Given the description of an element on the screen output the (x, y) to click on. 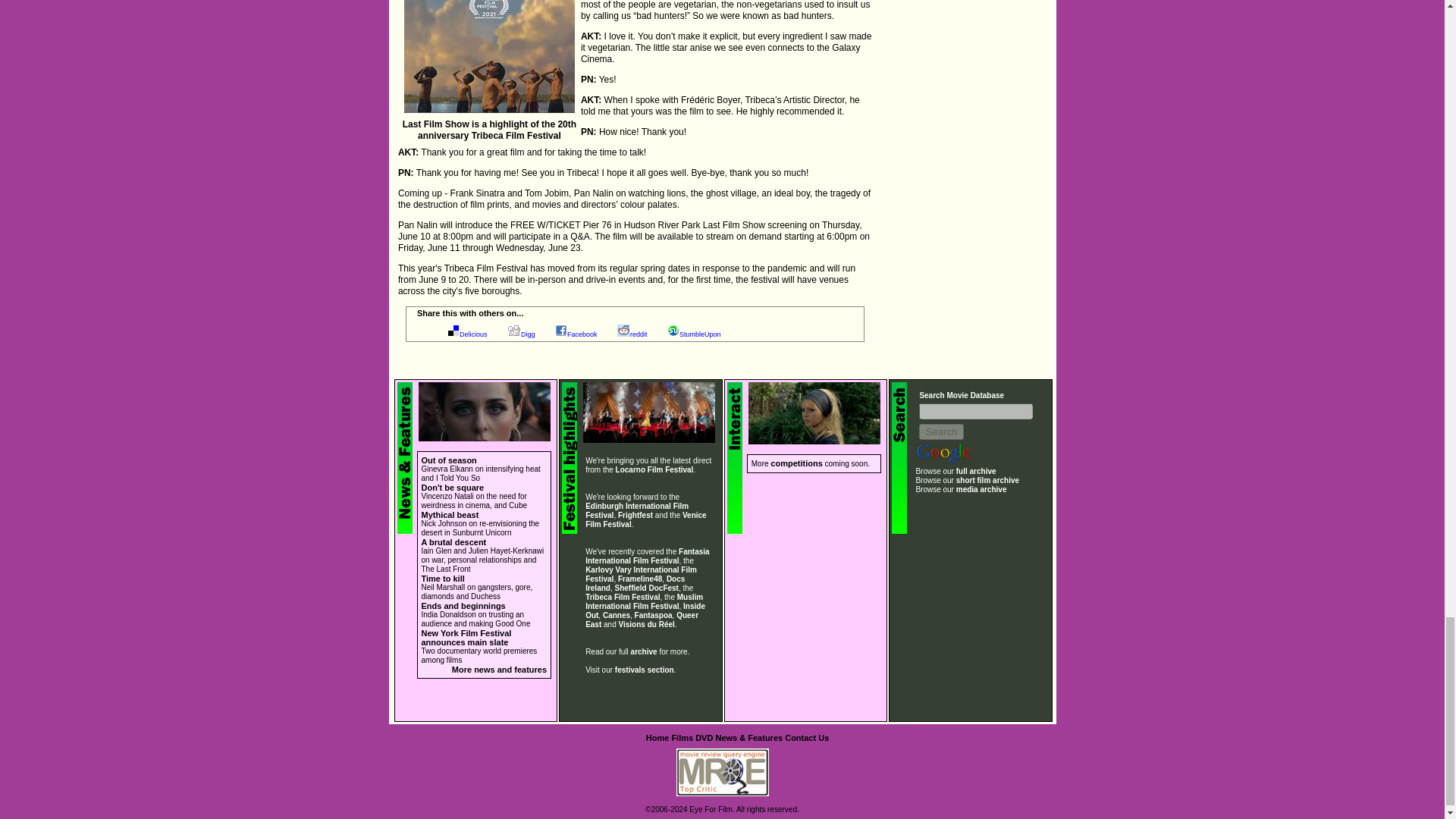
Search (940, 431)
Post this to Delicious (473, 334)
Post this to Digg (528, 334)
Post this to Facebook (581, 334)
Post this to StumbleUpon (699, 334)
Post this to reddit (638, 334)
